Given the description of an element on the screen output the (x, y) to click on. 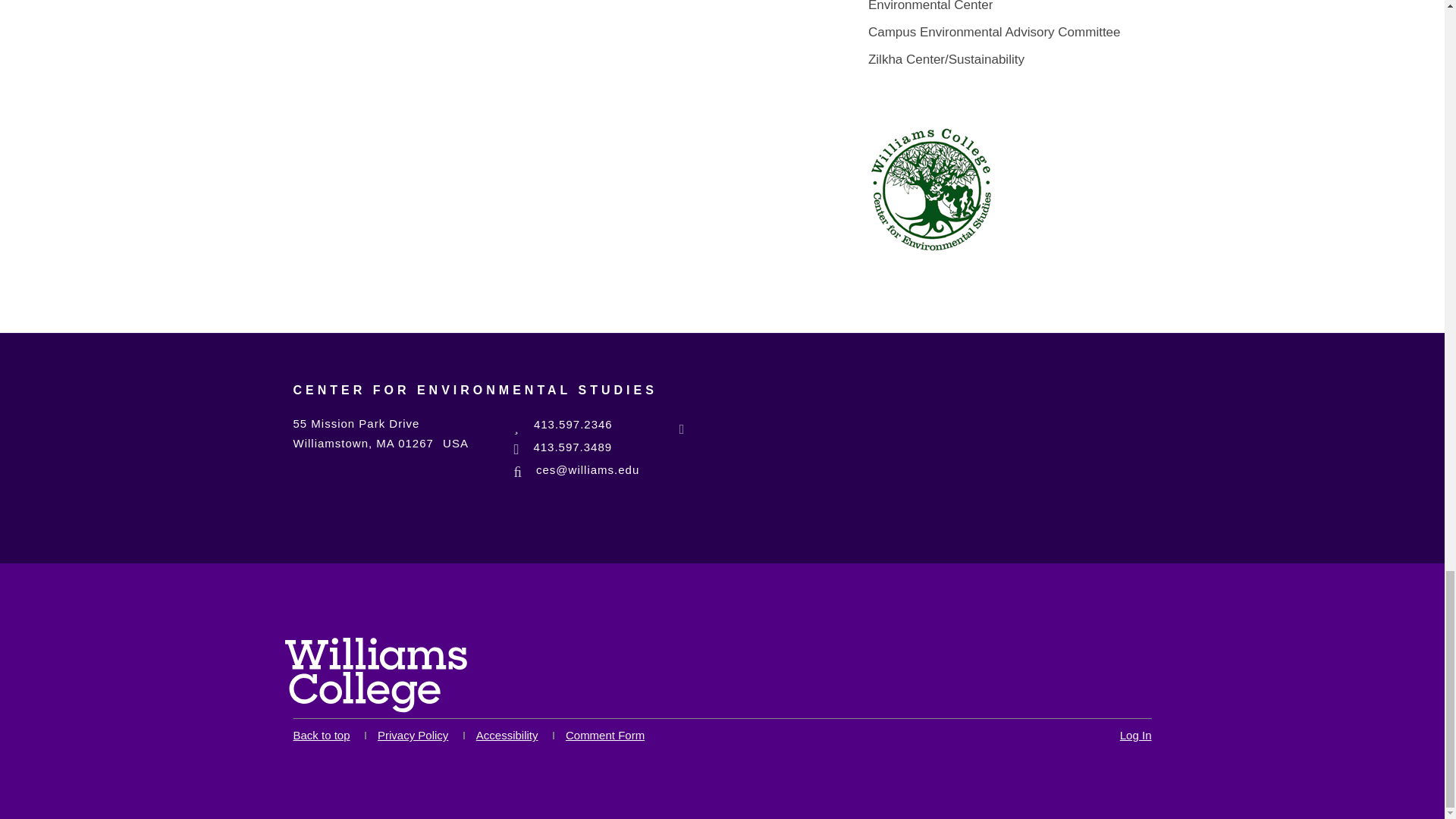
Williams College (376, 675)
